Given the description of an element on the screen output the (x, y) to click on. 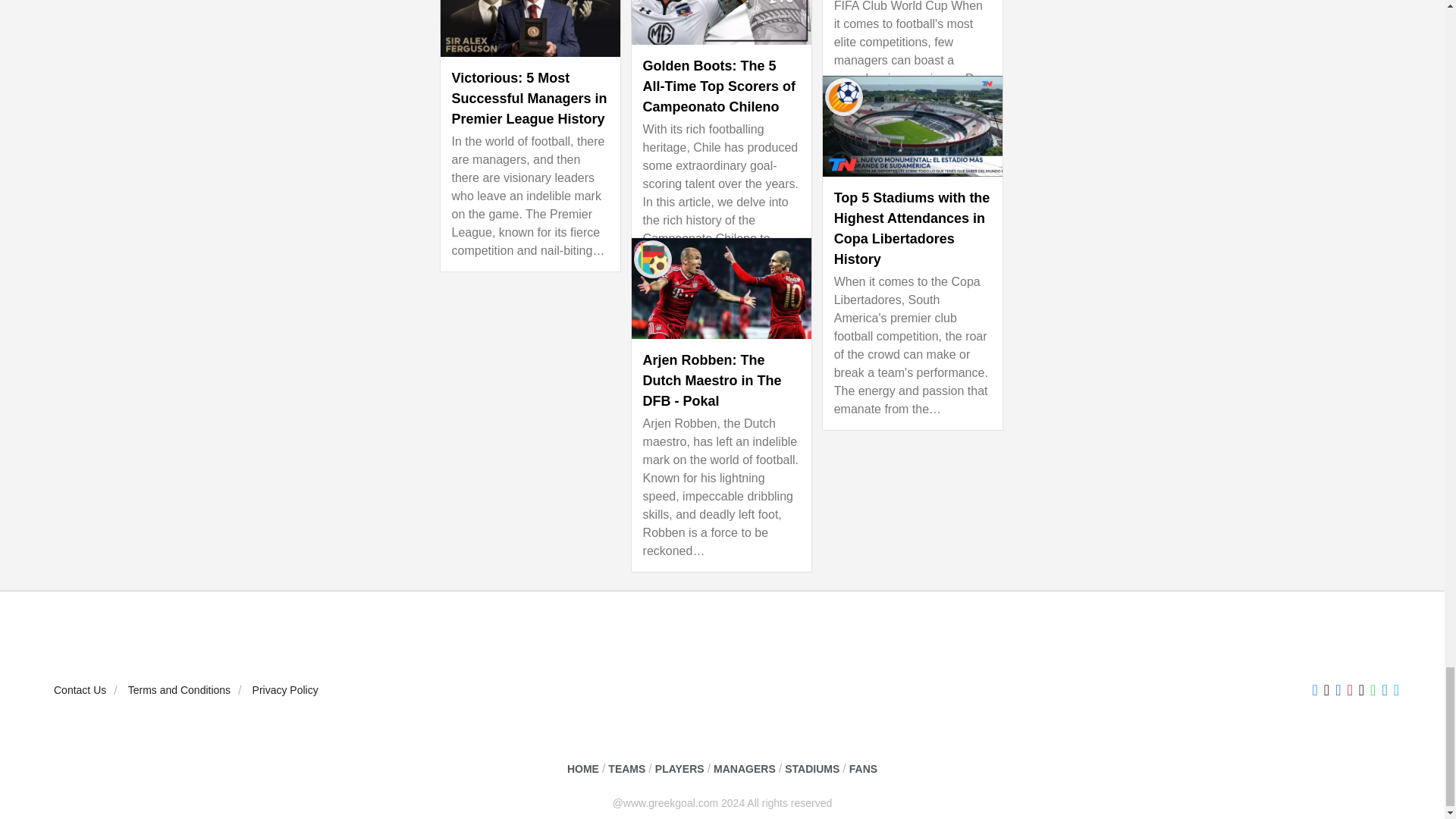
Terms and Conditions (178, 689)
PLAYERS (679, 769)
STADIUMS (812, 769)
Privacy Policy (284, 689)
Contact Us (79, 689)
MANAGERS (744, 769)
